Given the description of an element on the screen output the (x, y) to click on. 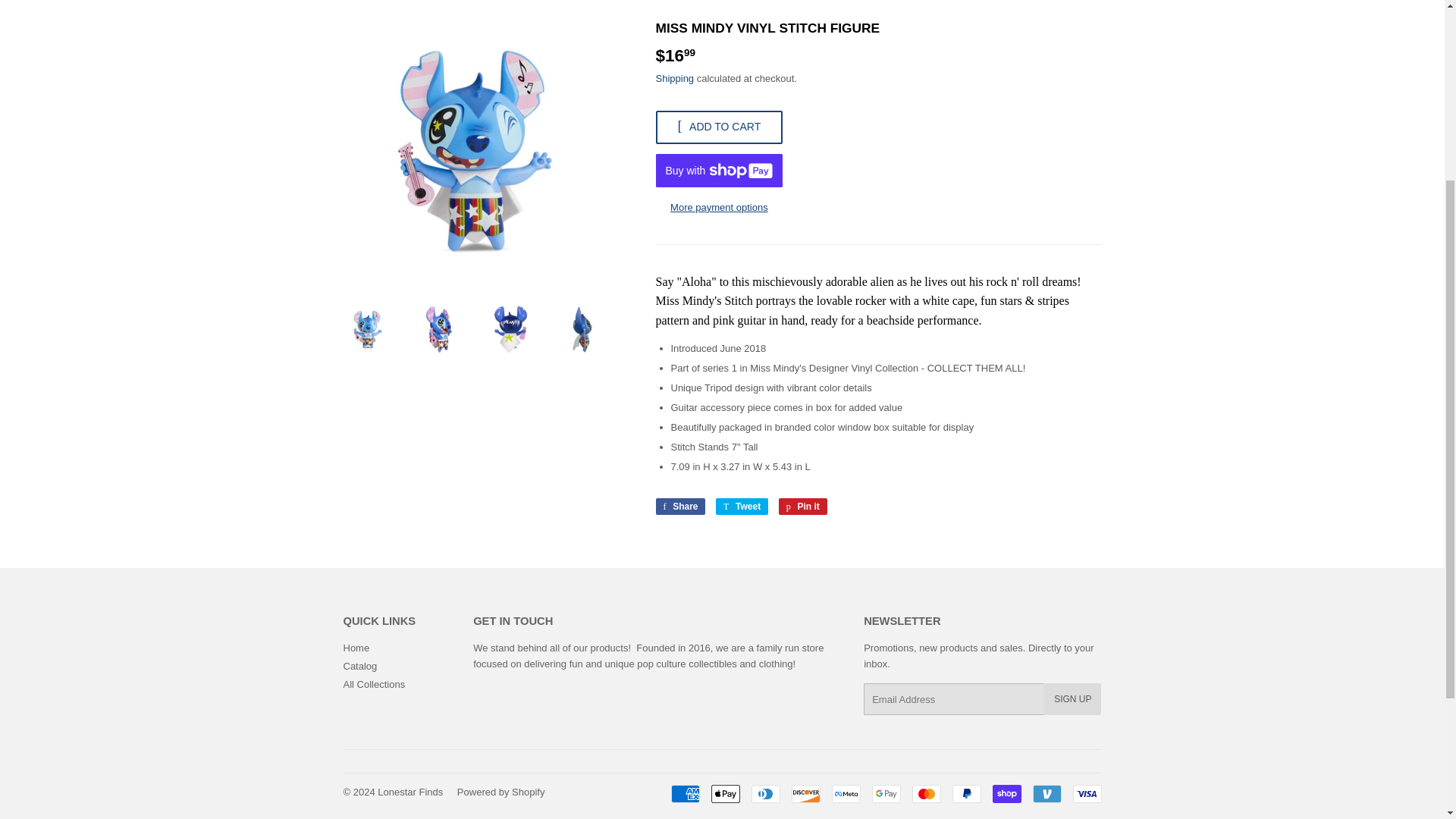
Share on Facebook (679, 506)
Shop Pay (1005, 793)
Google Pay (886, 793)
Lonestar Finds (409, 791)
Home (679, 506)
Mastercard (355, 647)
Meta Pay (925, 793)
Venmo (845, 793)
Visa (1046, 793)
Diners Club (1085, 793)
Apple Pay (764, 793)
Tweet on Twitter (725, 793)
Powered by Shopify (742, 506)
ADD TO CART (500, 791)
